Given the description of an element on the screen output the (x, y) to click on. 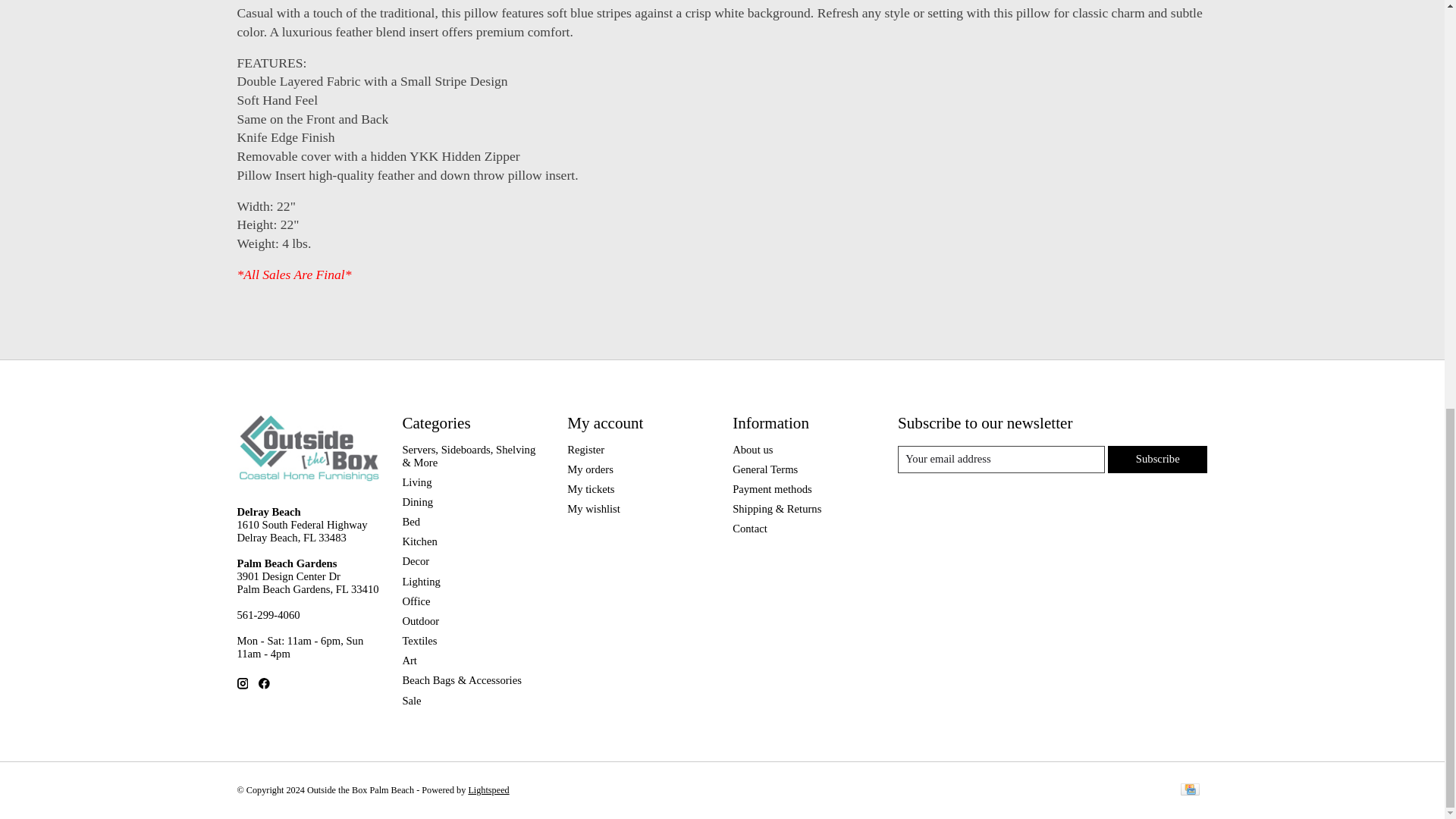
My orders (589, 469)
My tickets (590, 489)
Payment methods (772, 489)
My wishlist (593, 508)
Contact (749, 528)
Register (585, 449)
About us (752, 449)
General Terms  (764, 469)
Credit Card (1188, 790)
Lightspeed (487, 789)
